Given the description of an element on the screen output the (x, y) to click on. 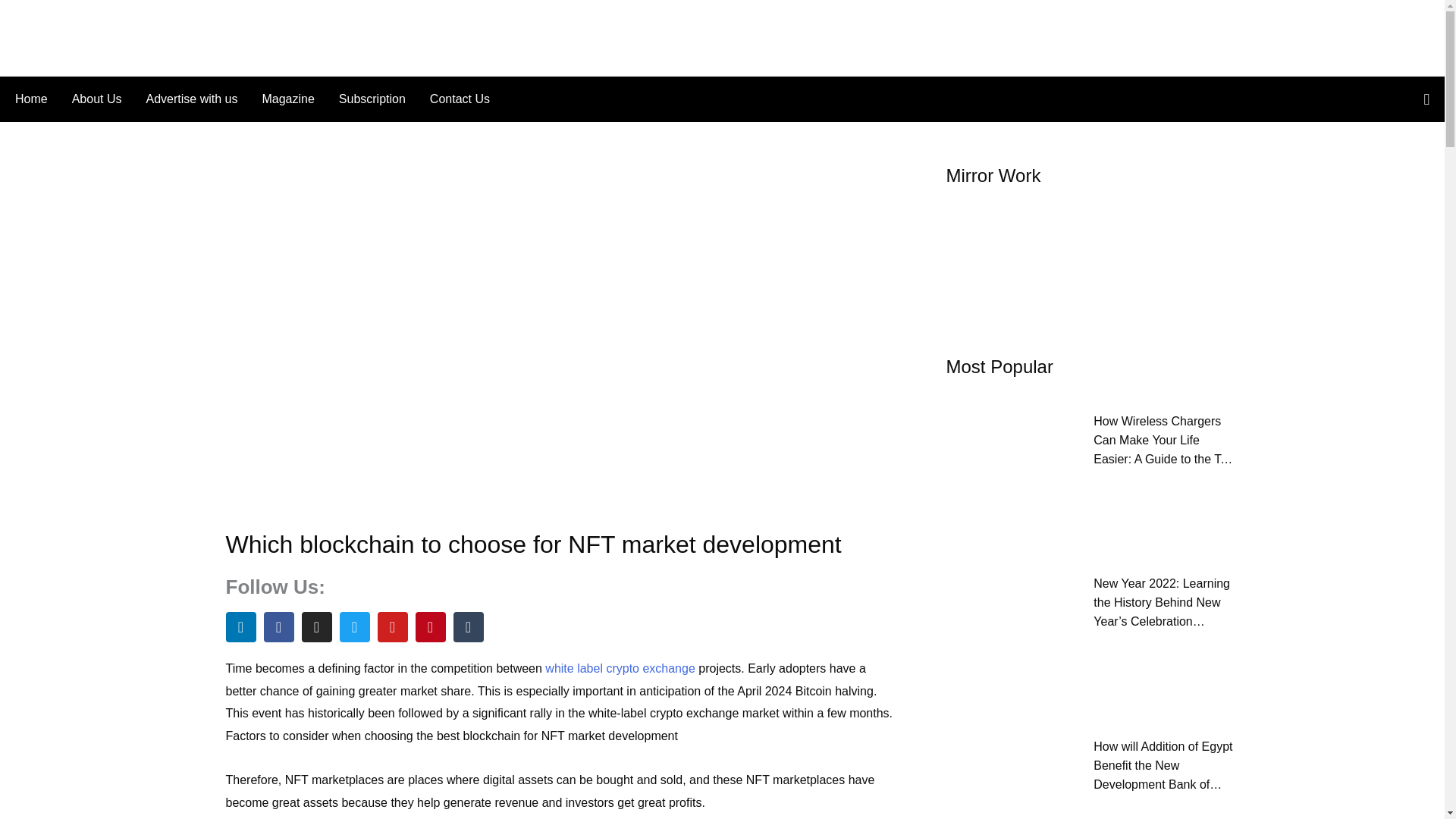
Tumblr (467, 626)
Most Popular (999, 366)
Contact Us (453, 99)
Youtube (392, 626)
Pinterest (429, 626)
Twitter (354, 626)
About Us (96, 99)
Instagram (316, 626)
white label crypto exchange (621, 667)
Home (36, 99)
